Given the description of an element on the screen output the (x, y) to click on. 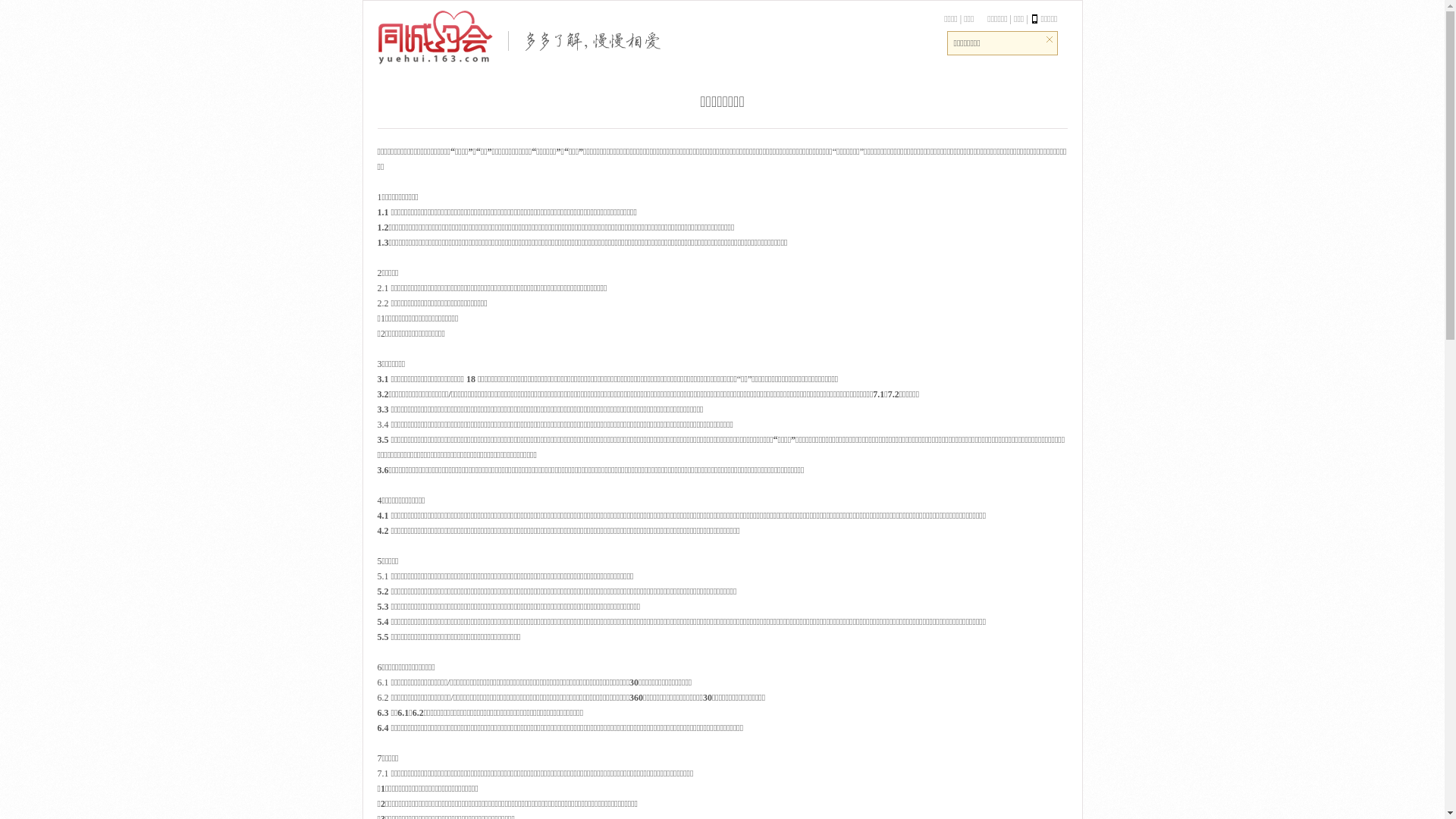
0 Element type: text (19, 7)
